Given the description of an element on the screen output the (x, y) to click on. 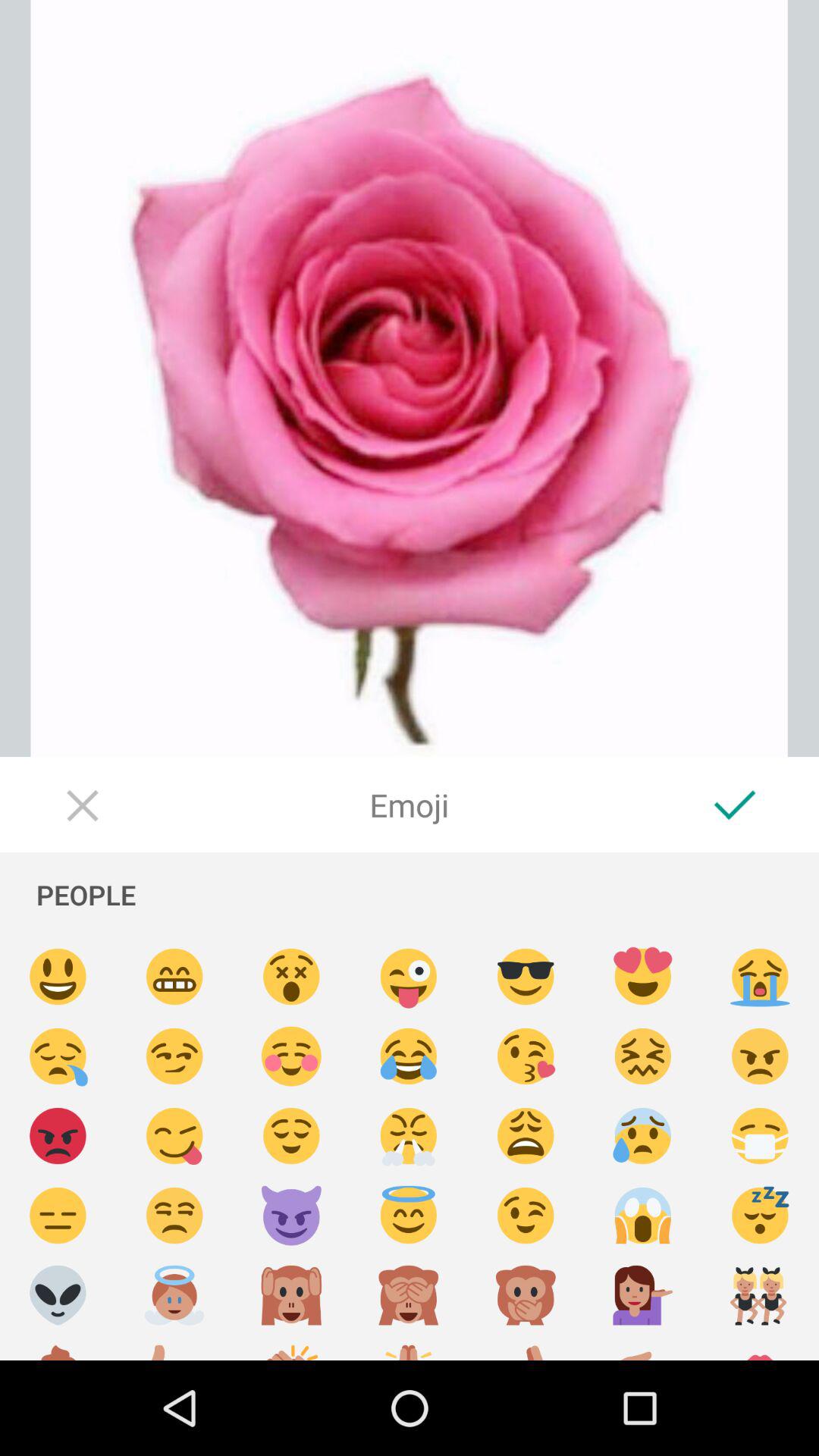
blushing emoji (291, 1056)
